Given the description of an element on the screen output the (x, y) to click on. 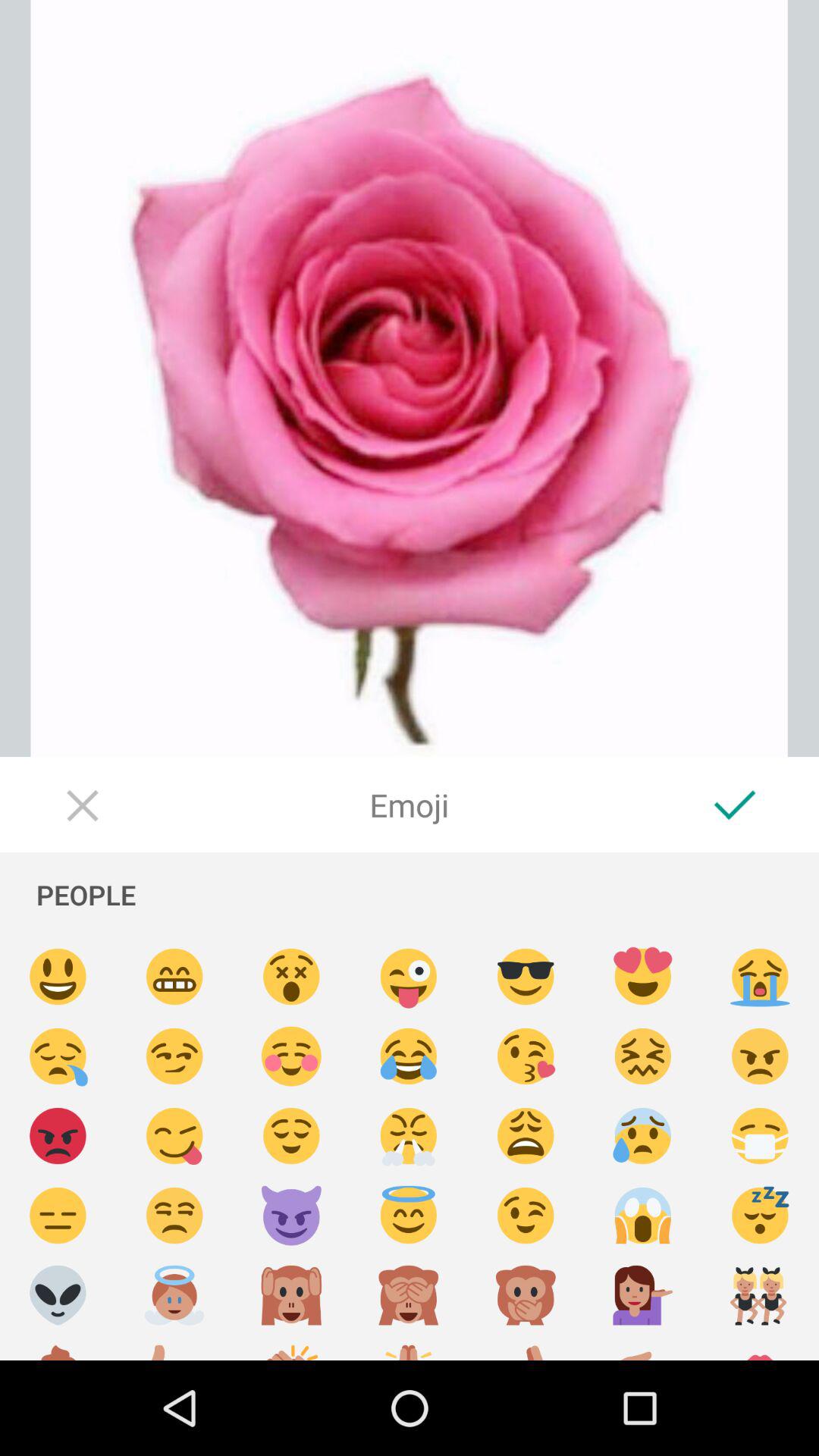
blushing emoji (291, 1056)
